Given the description of an element on the screen output the (x, y) to click on. 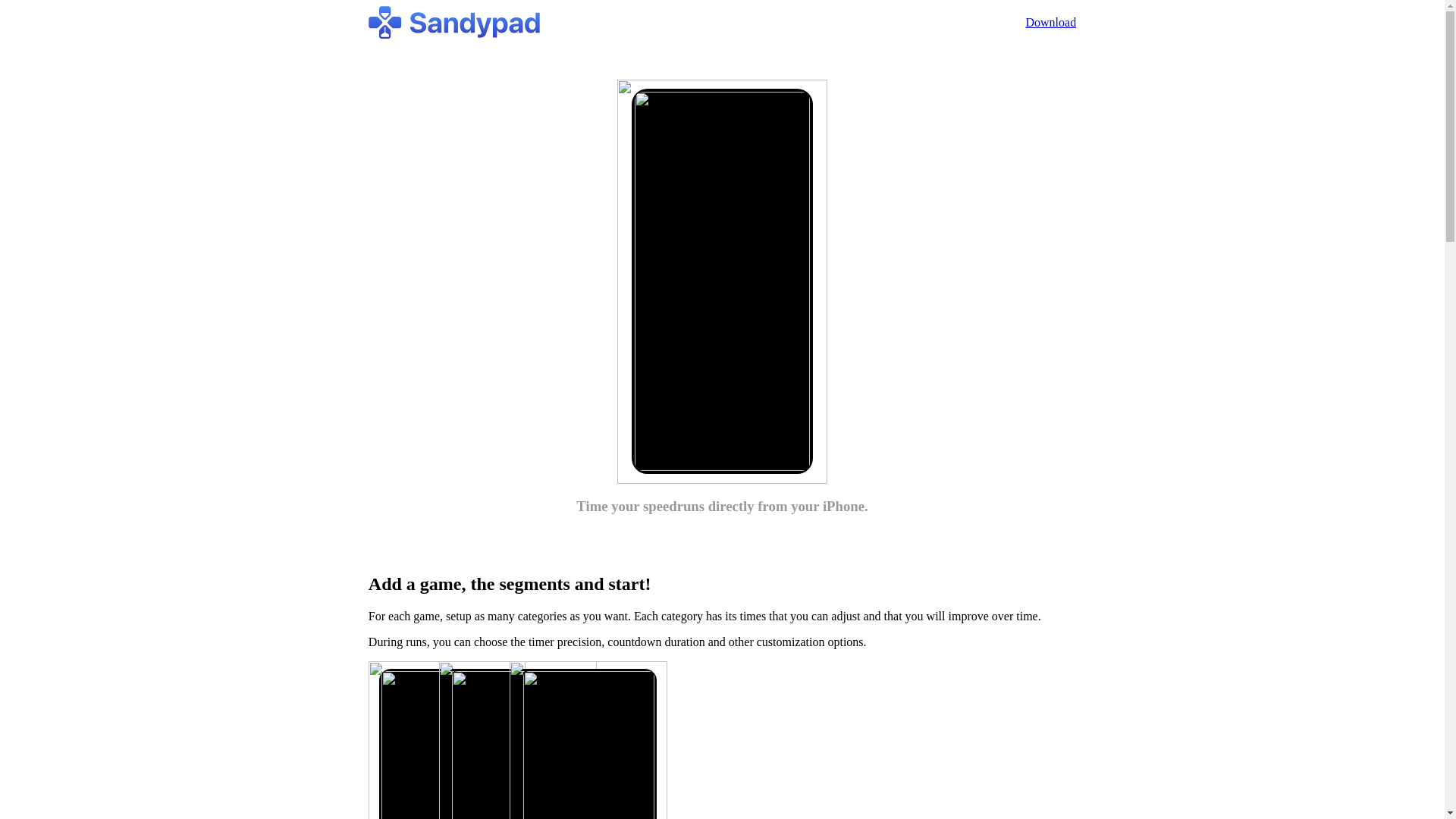
Download (1050, 22)
